Given the description of an element on the screen output the (x, y) to click on. 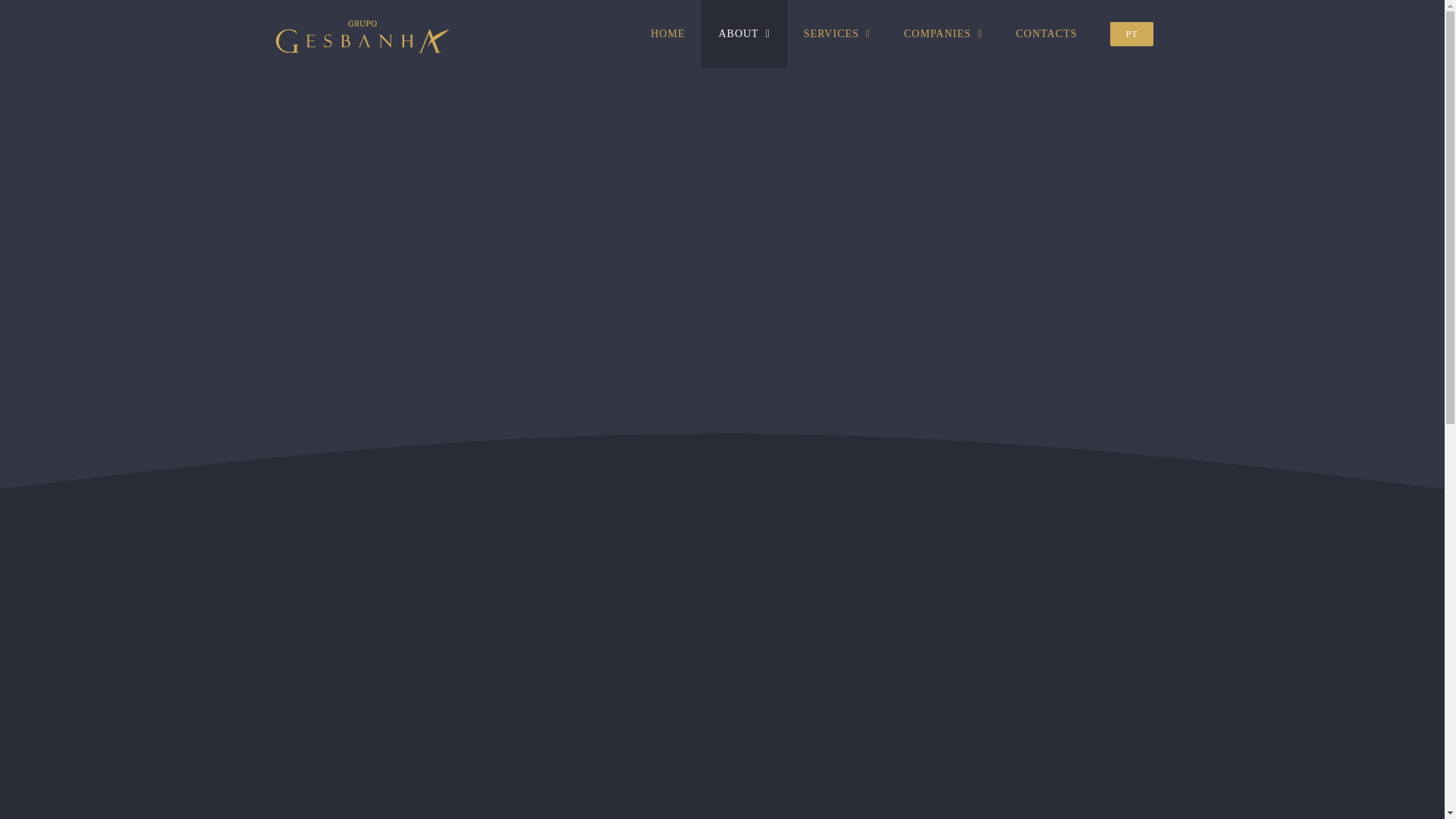
PT (1131, 33)
SERVICES (836, 33)
COMPANIES (942, 33)
HOME (667, 33)
CONTACTS (1046, 33)
ABOUT (743, 33)
